Given the description of an element on the screen output the (x, y) to click on. 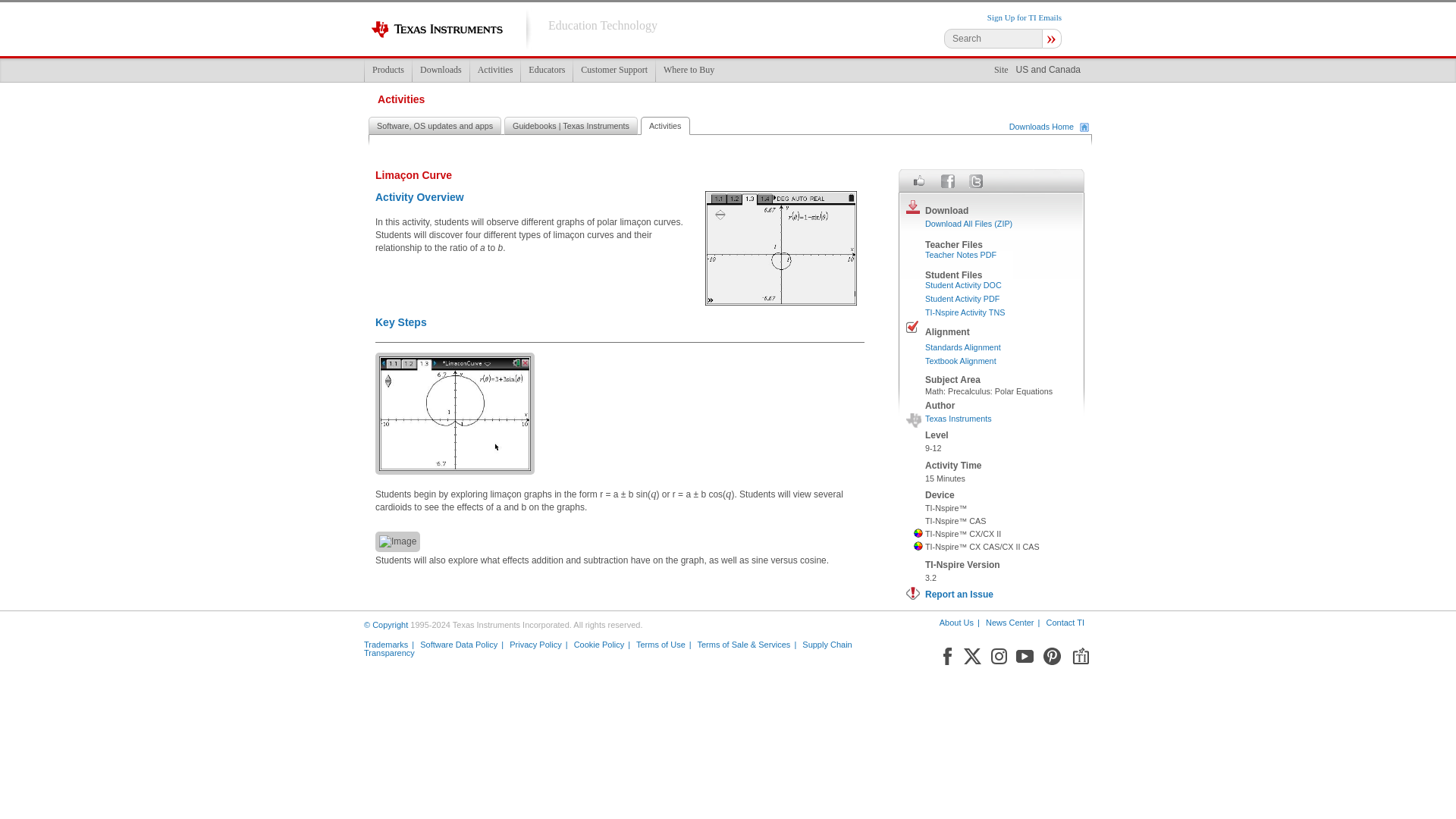
Products (388, 69)
Facebook (946, 653)
Facebook (947, 180)
Twitter (975, 180)
Twitter (972, 653)
Recommend Activity (919, 180)
Sign Up for TI Emails (1024, 17)
Activities (494, 69)
Pinterest (1052, 653)
Instagram (998, 653)
